Given the description of an element on the screen output the (x, y) to click on. 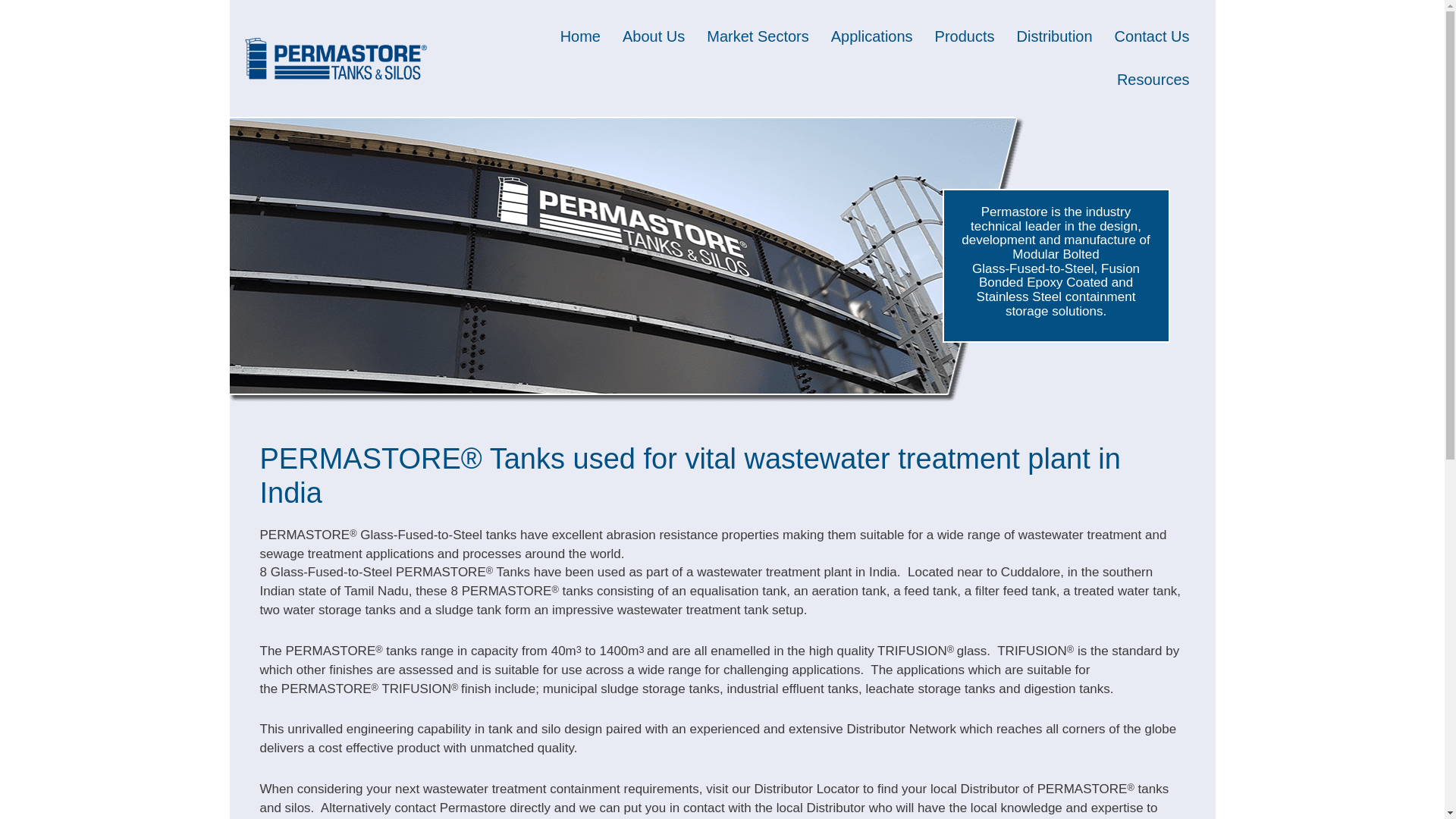
About Us (653, 36)
permastore new logo sm (335, 58)
Applications (872, 36)
Home (580, 36)
Market Sectors (756, 36)
Market Sectors (756, 36)
Products (965, 36)
About Us (653, 36)
Applications (872, 36)
Home (580, 36)
